Given the description of an element on the screen output the (x, y) to click on. 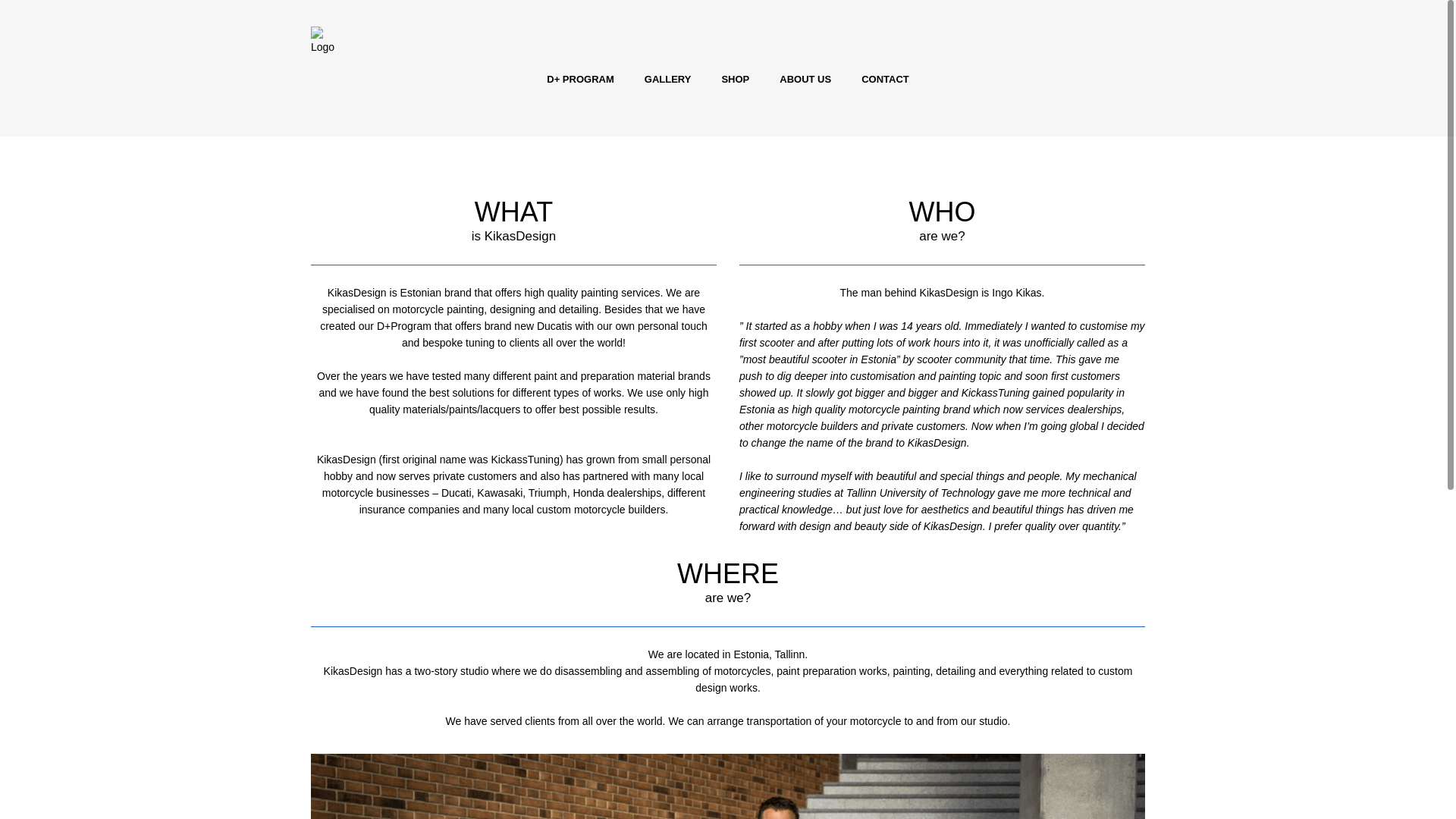
Duc Gucci (727, 786)
